Given the description of an element on the screen output the (x, y) to click on. 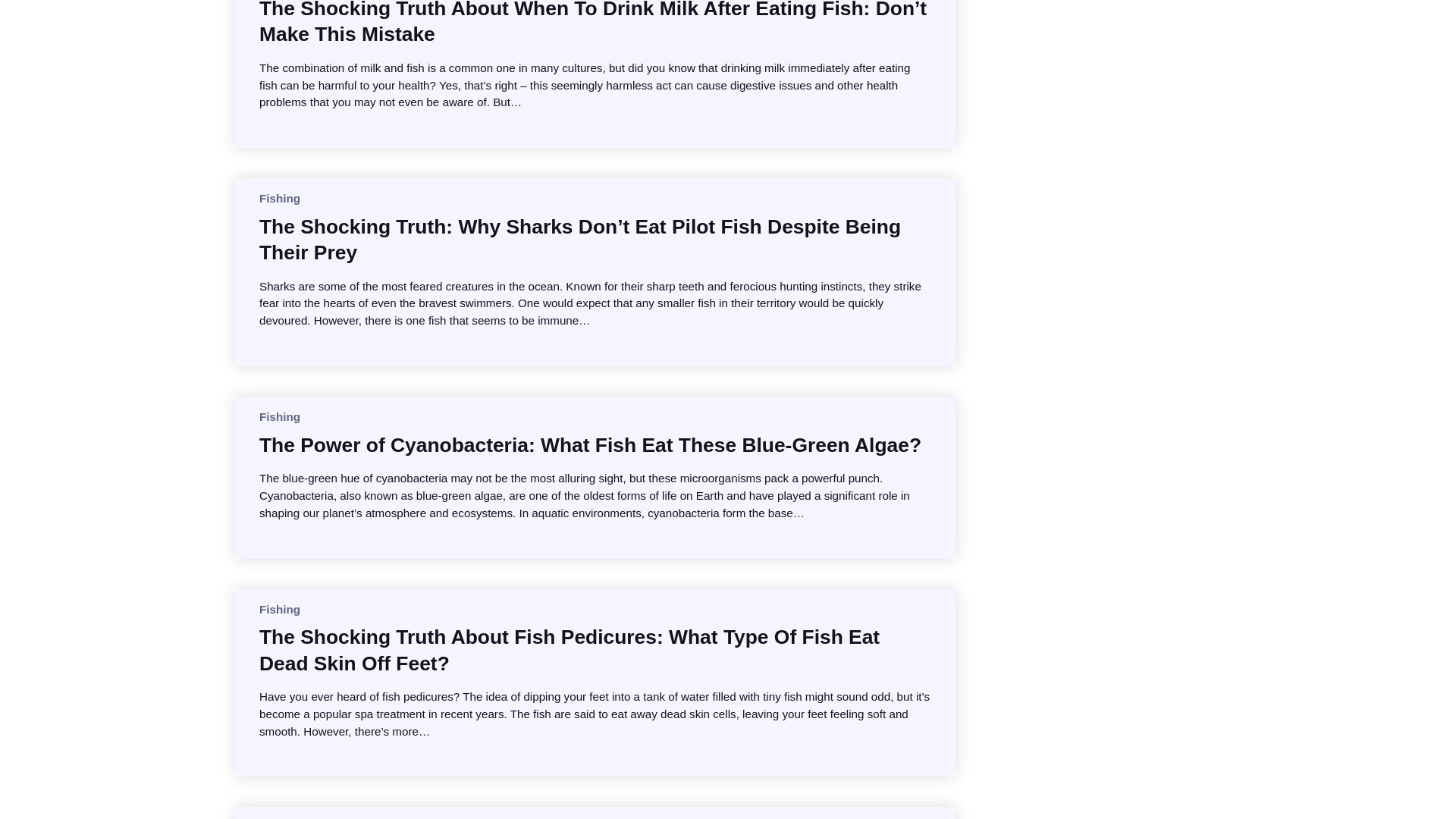
Fishing (279, 608)
Fishing (279, 416)
Fishing (279, 197)
